Given the description of an element on the screen output the (x, y) to click on. 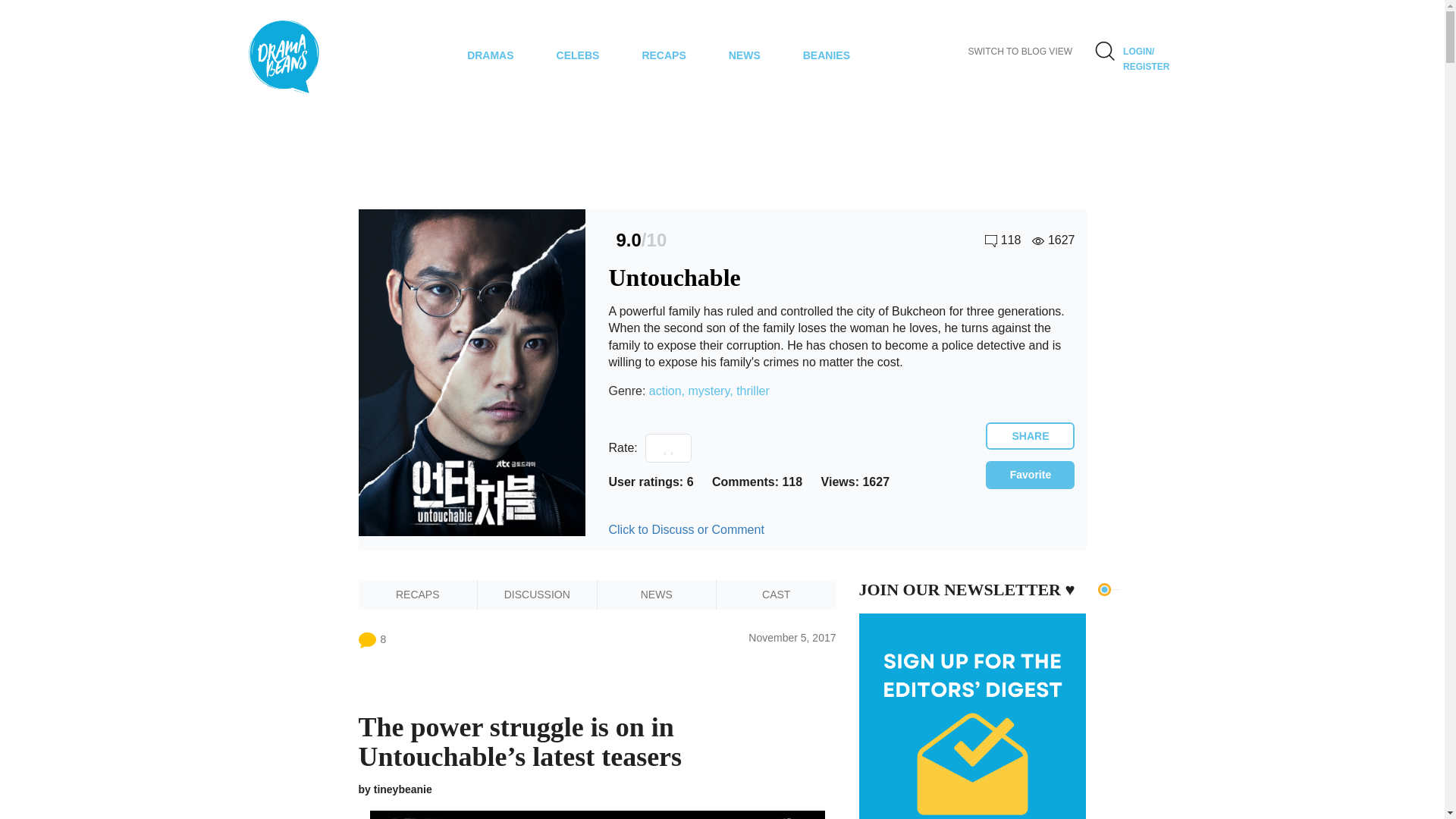
action (665, 390)
mystery (708, 390)
CELEBS (577, 55)
REGISTER (1145, 66)
DRAMAS (490, 55)
NEWS (744, 55)
thriller (753, 390)
SWITCH TO BLOG VIEW (1019, 51)
BEANIES (826, 55)
SEARCH (1104, 50)
RECAPS (662, 55)
